Given the description of an element on the screen output the (x, y) to click on. 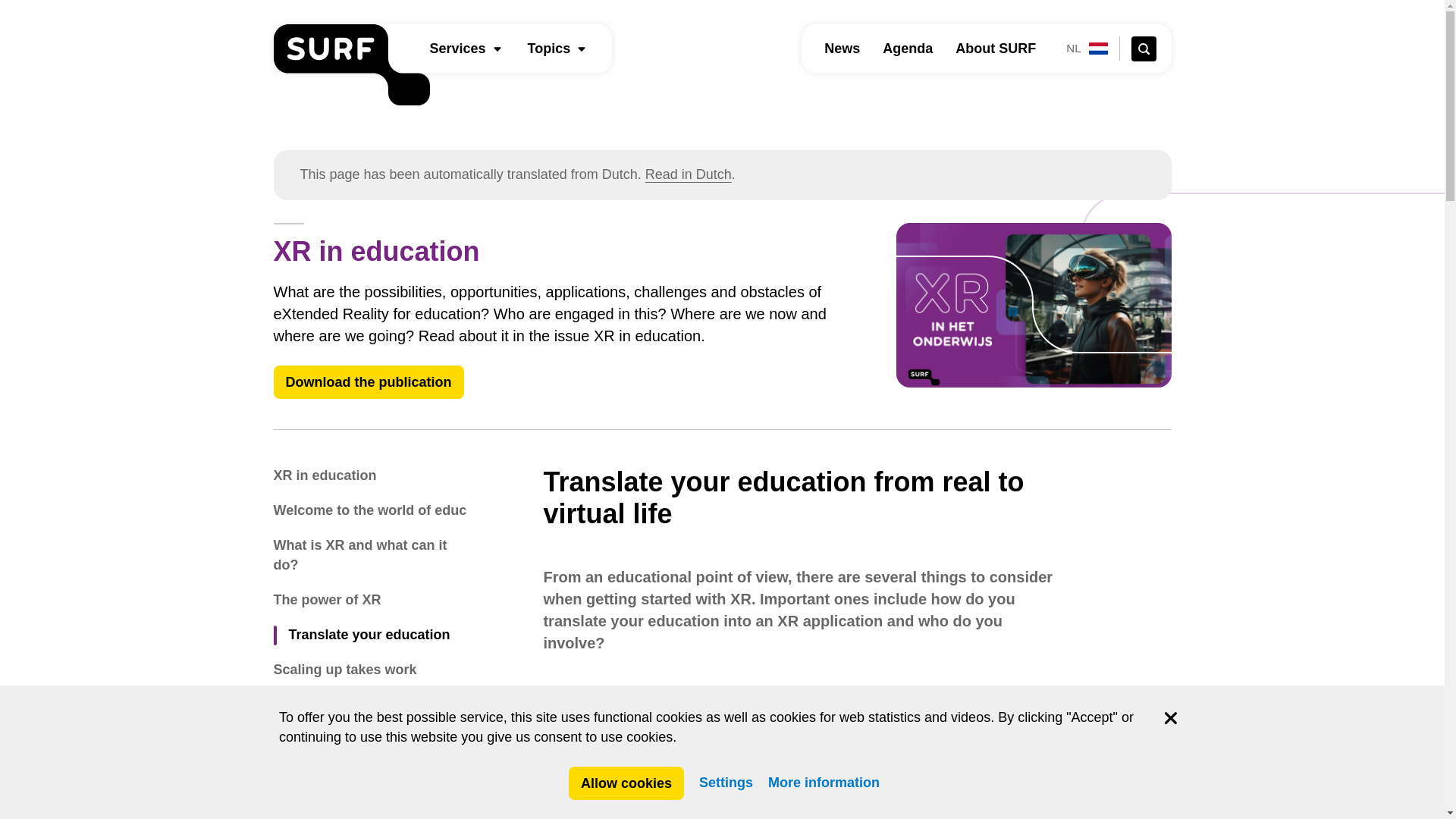
Agenda (907, 48)
Close (1170, 717)
News (842, 48)
Settings (725, 782)
Allow cookies (626, 783)
SubmenuServices (497, 48)
More information (823, 783)
Services (456, 48)
About SURF (995, 48)
Skip to main content (7, 7)
